Given the description of an element on the screen output the (x, y) to click on. 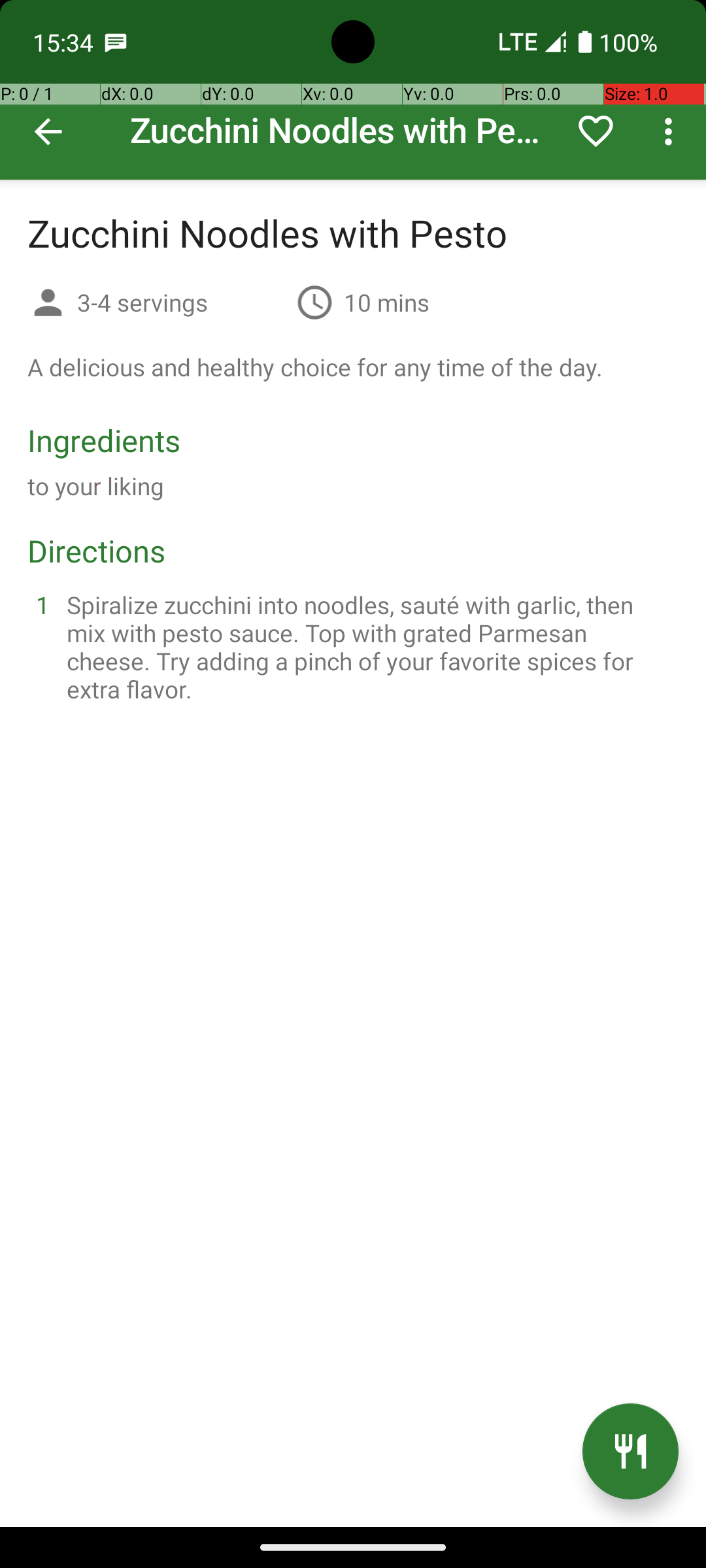
Zucchini Noodles with Pesto Element type: android.widget.FrameLayout (353, 89)
Spiralize zucchini into noodles, sauté with garlic, then mix with pesto sauce. Top with grated Parmesan cheese. Try adding a pinch of your favorite spices for extra flavor. Element type: android.widget.TextView (368, 646)
